Given the description of an element on the screen output the (x, y) to click on. 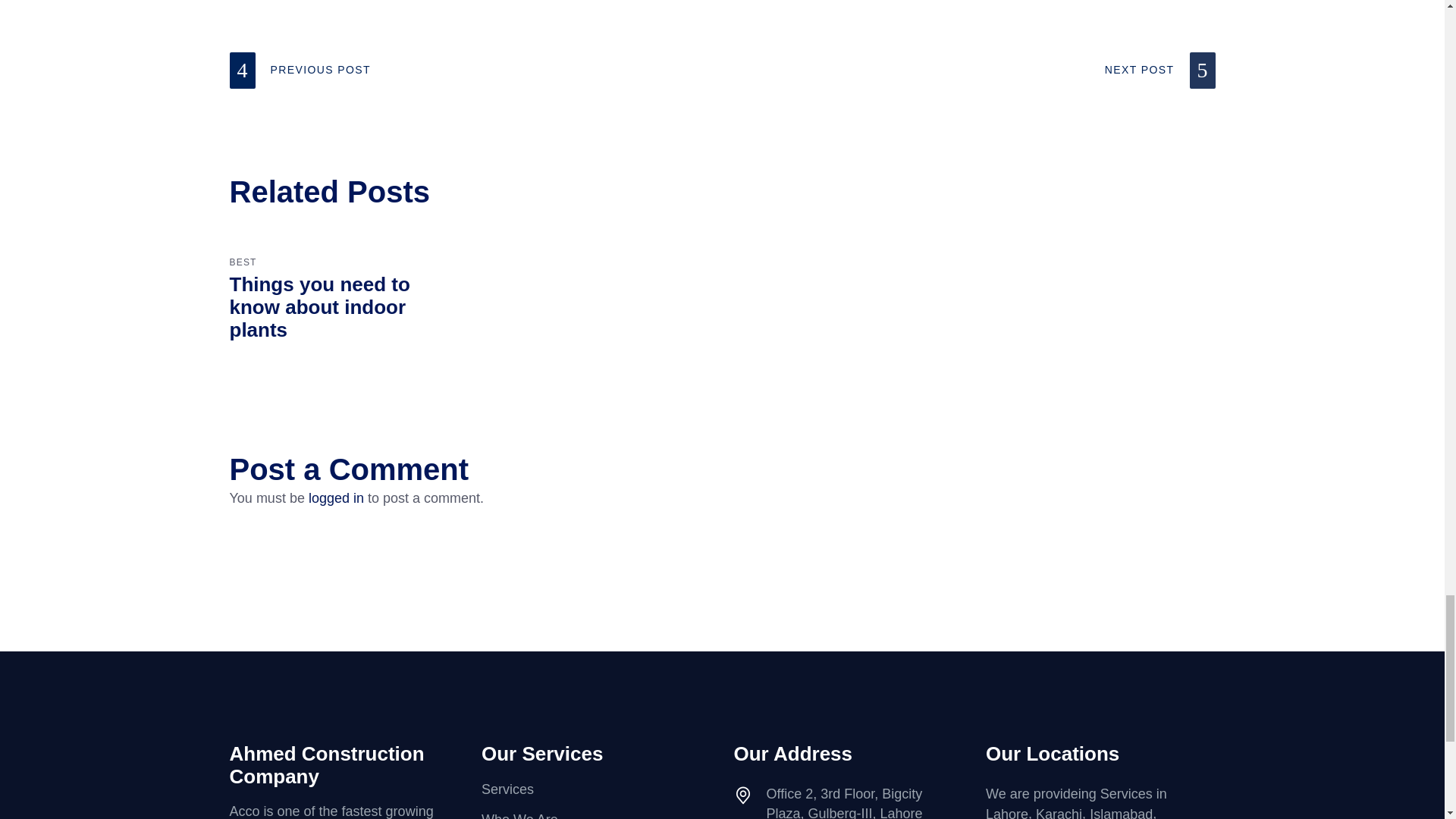
Things you need to know about indoor plants (318, 306)
